Given the description of an element on the screen output the (x, y) to click on. 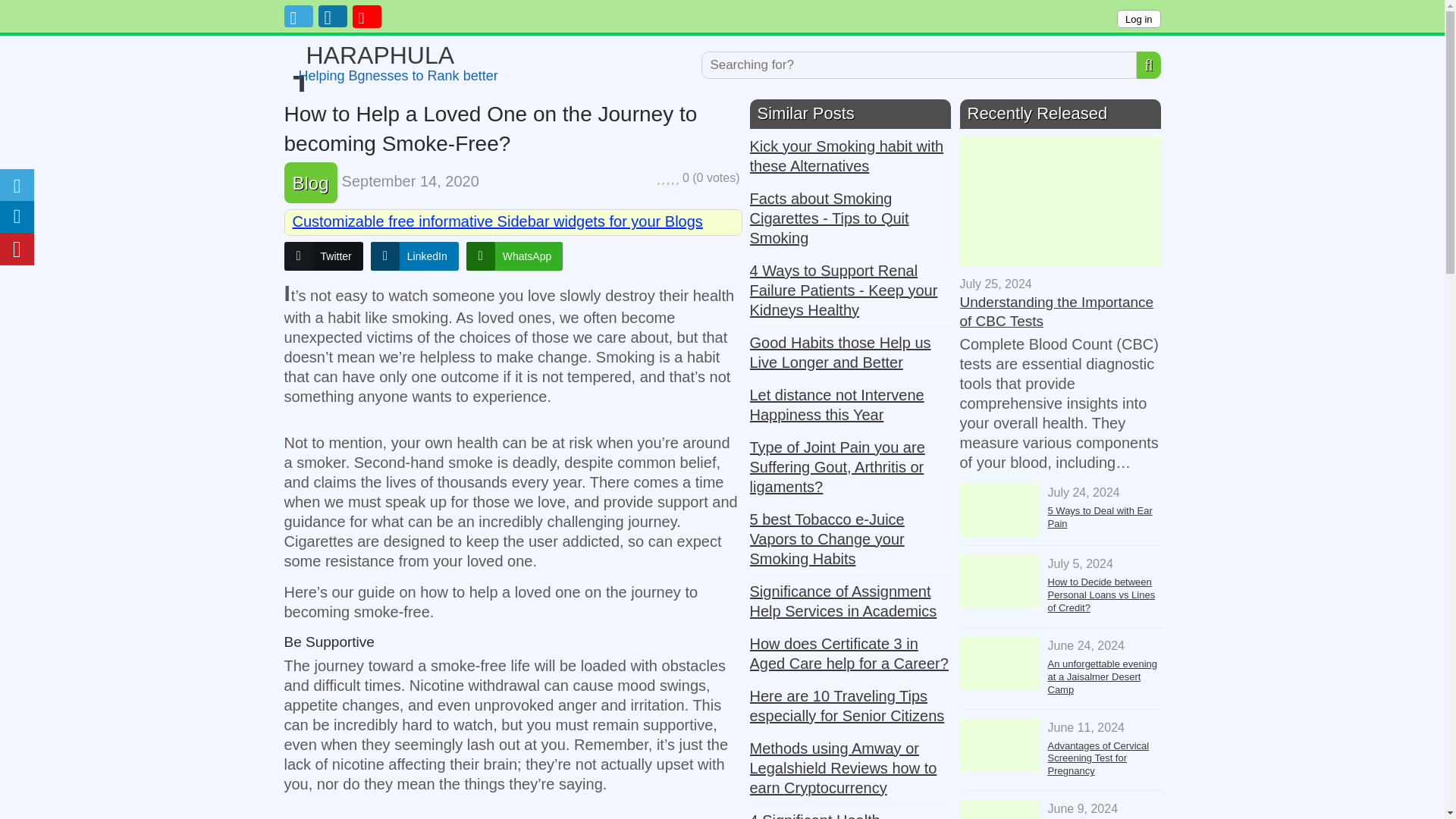
Twitter (322, 256)
Customizable free informative Sidebar widgets for your Blogs (497, 221)
Log in (1138, 18)
Blog (310, 182)
LinkedIn (414, 256)
WhatsApp (514, 256)
